Given the description of an element on the screen output the (x, y) to click on. 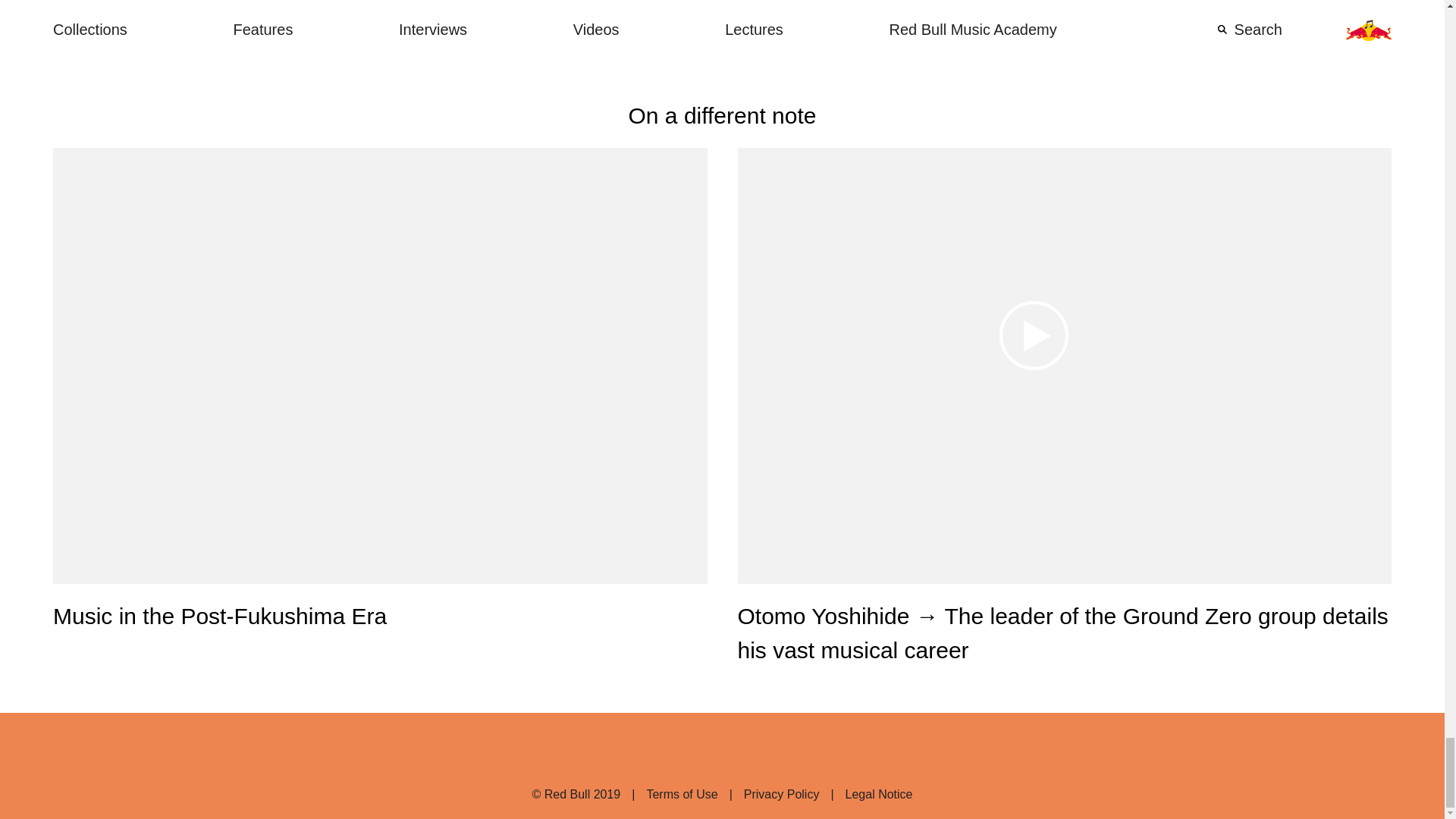
Terms of Use (668, 794)
Privacy Policy (768, 794)
Legal Notice (865, 794)
